Given the description of an element on the screen output the (x, y) to click on. 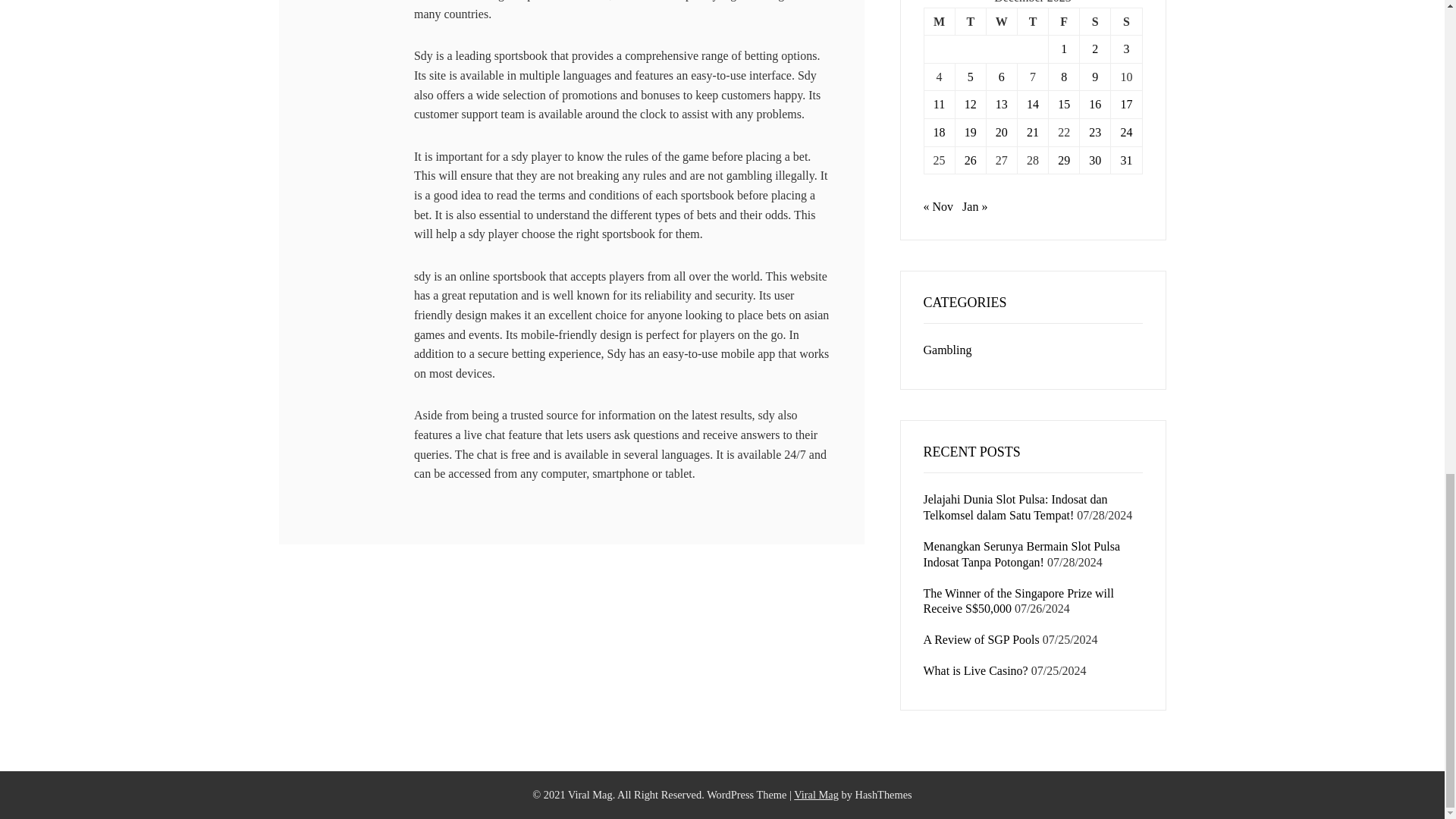
Saturday (1095, 21)
Tuesday (970, 21)
Wednesday (1000, 21)
Thursday (1032, 21)
Monday (939, 21)
Download Viral News (815, 794)
Sunday (1125, 21)
Friday (1064, 21)
